Given the description of an element on the screen output the (x, y) to click on. 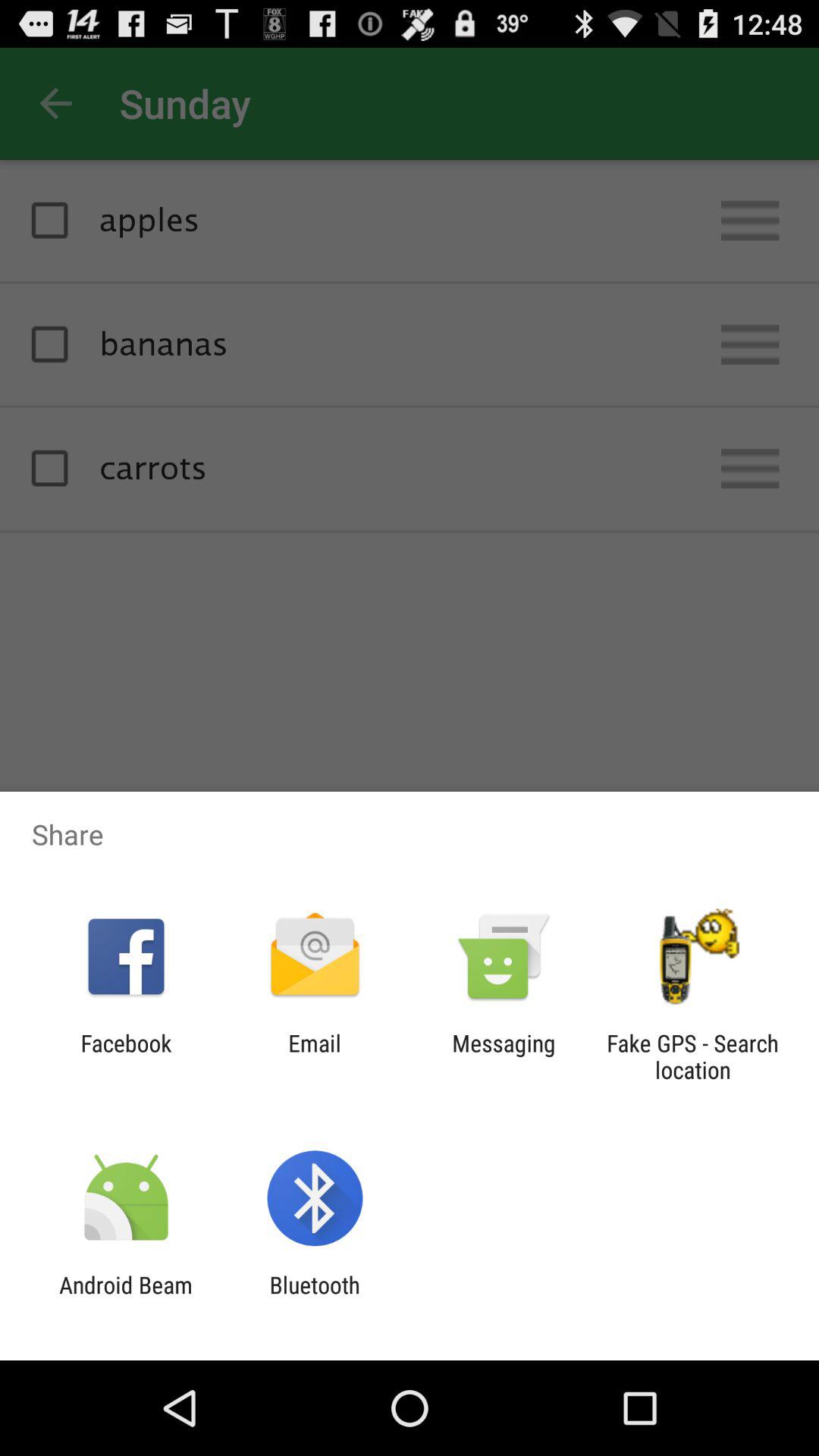
tap item next to the fake gps search (503, 1056)
